Given the description of an element on the screen output the (x, y) to click on. 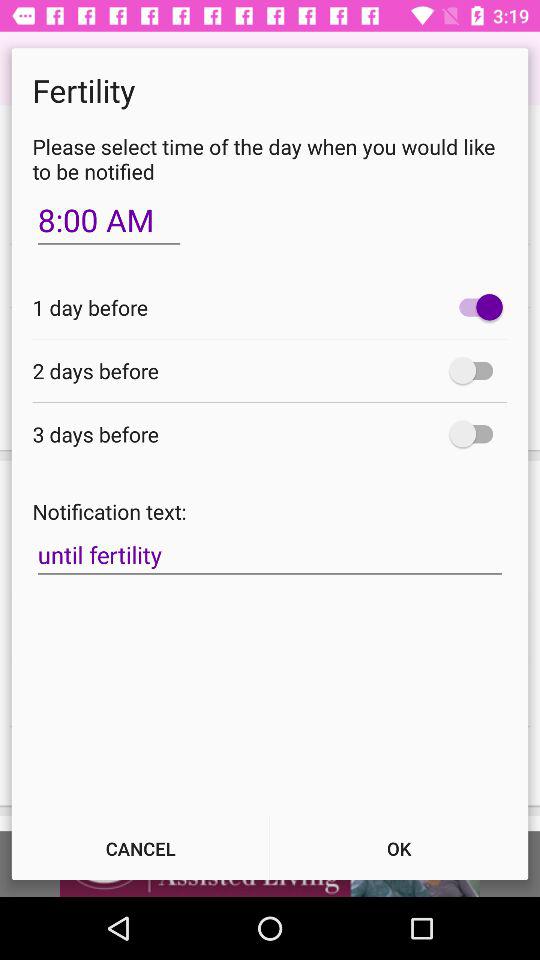
toggle 3 days before (476, 433)
